Given the description of an element on the screen output the (x, y) to click on. 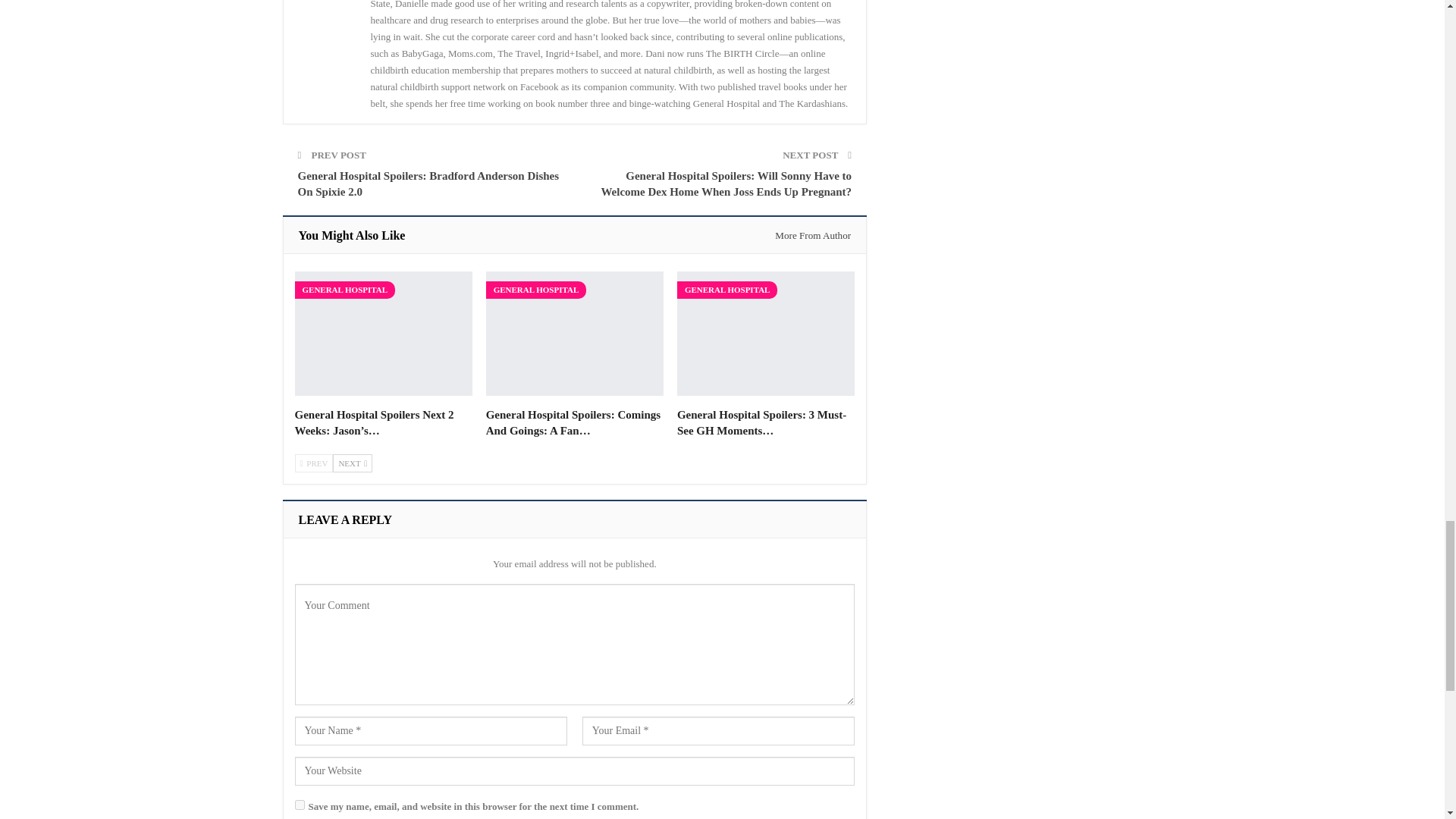
Next (352, 463)
Previous (313, 463)
yes (299, 804)
